Given the description of an element on the screen output the (x, y) to click on. 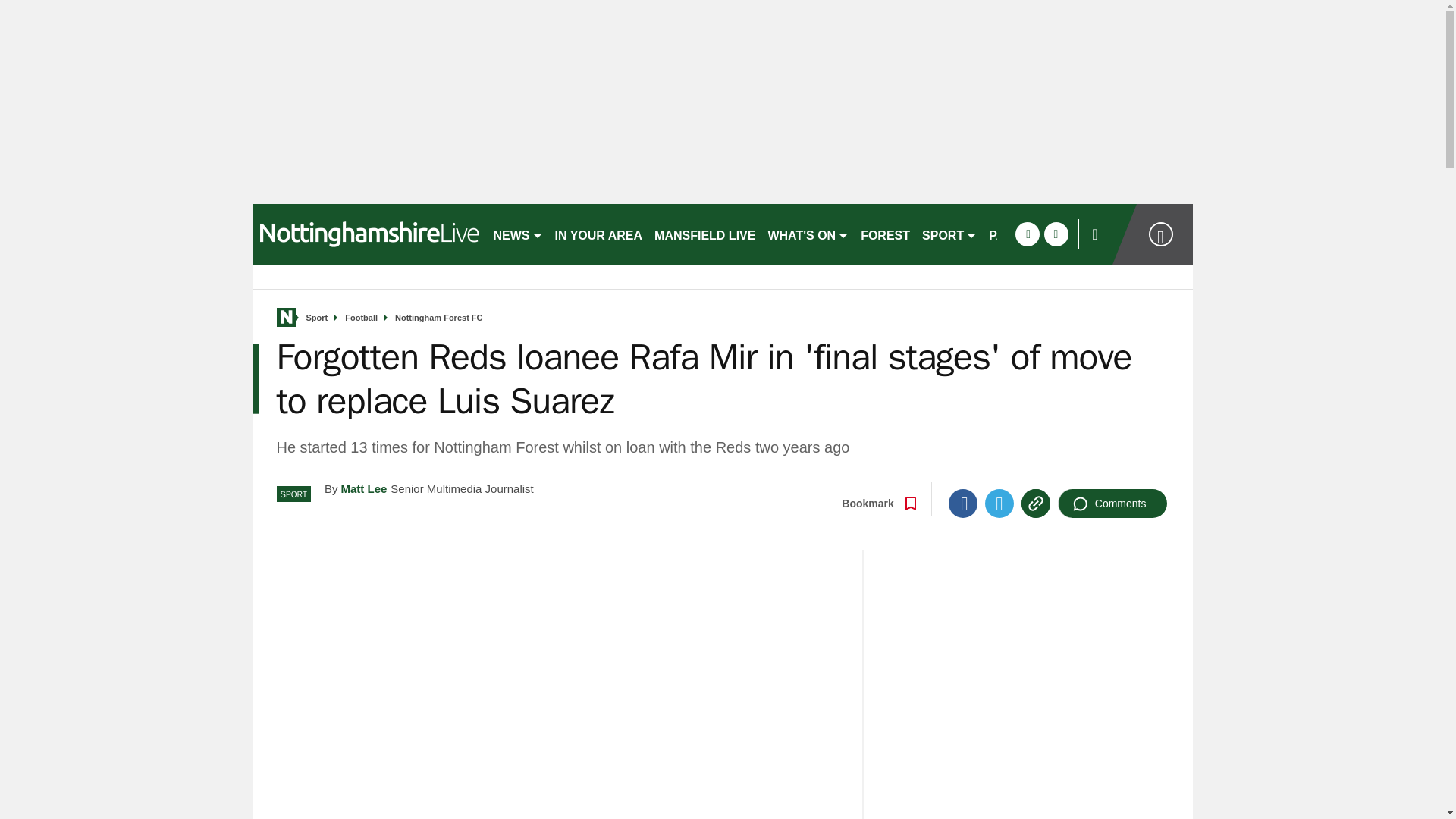
Twitter (999, 502)
facebook (1026, 233)
PARTNER STORIES (1045, 233)
FOREST (884, 233)
IN YOUR AREA (598, 233)
SPORT (948, 233)
nottinghampost (365, 233)
WHAT'S ON (807, 233)
twitter (1055, 233)
MANSFIELD LIVE (704, 233)
